Given the description of an element on the screen output the (x, y) to click on. 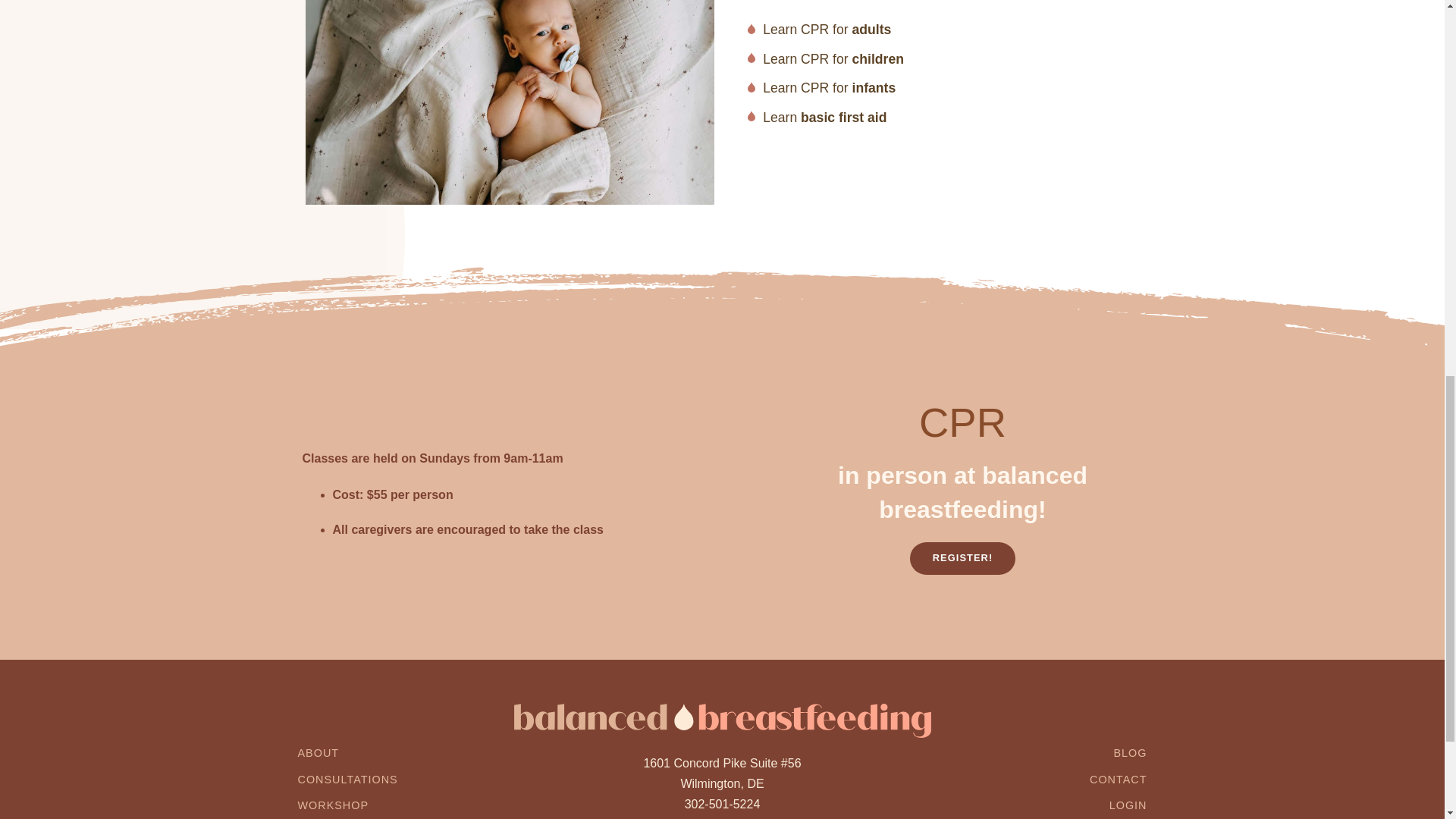
BLOG (1130, 752)
LOGIN (1128, 805)
ABOUT (318, 752)
CONSULTATIONS (347, 779)
CONTACT (1118, 779)
REGISTER! (963, 558)
302-501-5224 (722, 803)
WORKSHOP (332, 805)
